Given the description of an element on the screen output the (x, y) to click on. 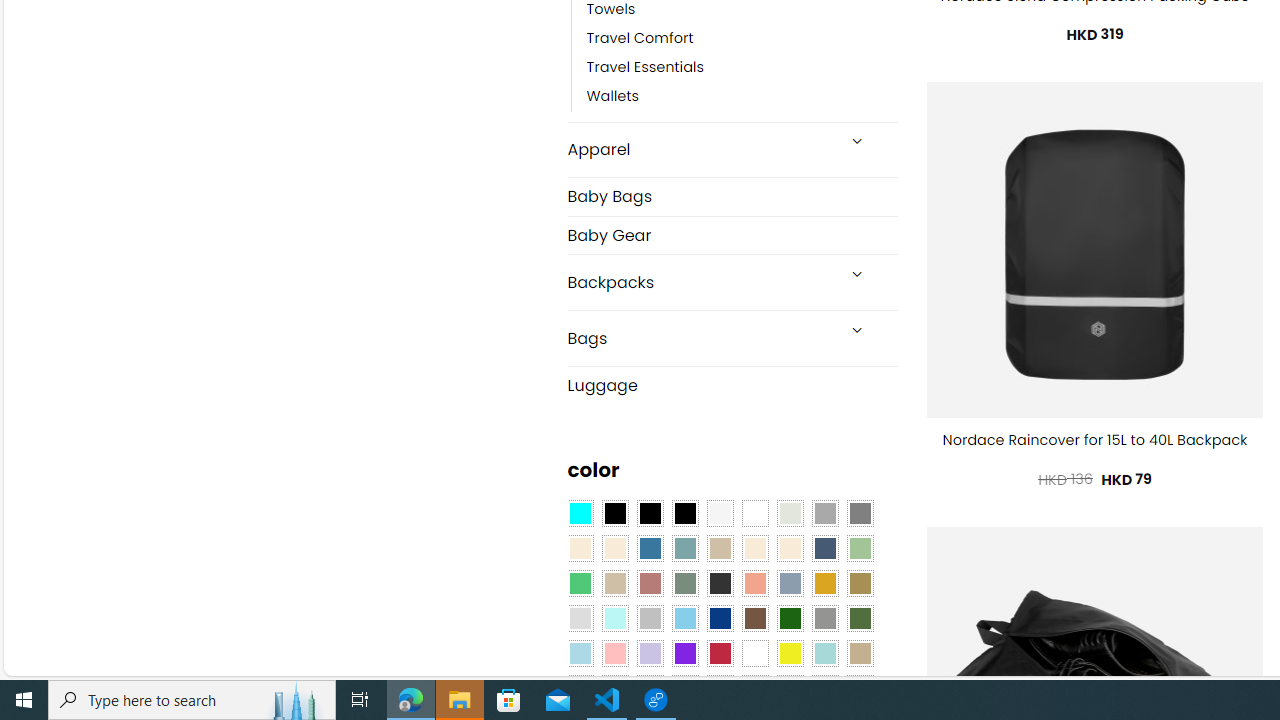
Luggage (732, 384)
Aqua (824, 653)
Dusty Blue (789, 583)
Sage (684, 583)
Purple (684, 653)
Baby Bags (732, 196)
Travel Essentials (645, 67)
All Black (614, 514)
Silver (650, 619)
All Gray (859, 514)
Coral (755, 583)
Sky Blue (684, 619)
Dark Green (789, 619)
